Given the description of an element on the screen output the (x, y) to click on. 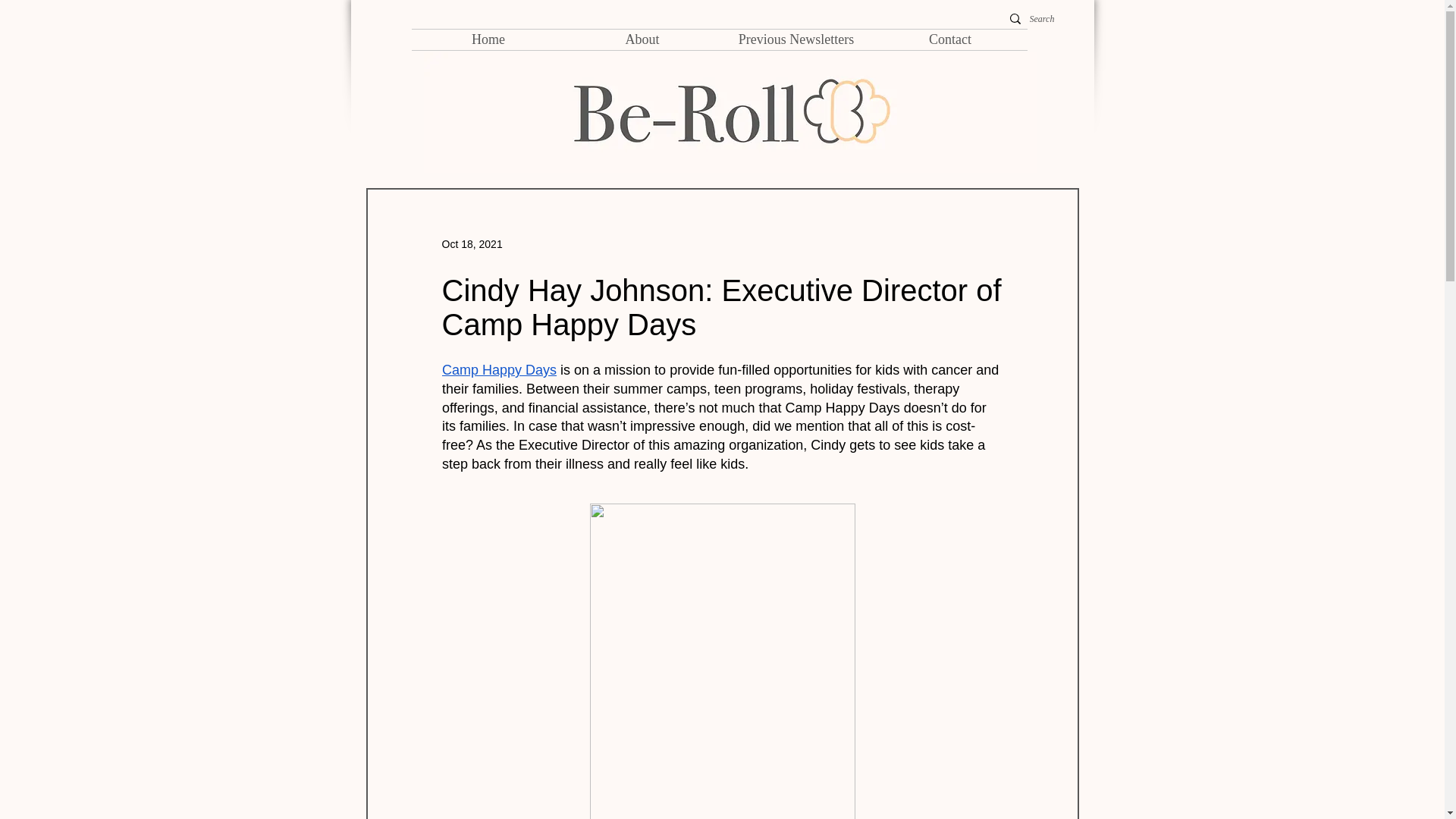
About (642, 39)
Contact (950, 39)
Home (487, 39)
Previous Newsletters (795, 39)
Oct 18, 2021 (471, 244)
Camp Happy Days (498, 369)
